Given the description of an element on the screen output the (x, y) to click on. 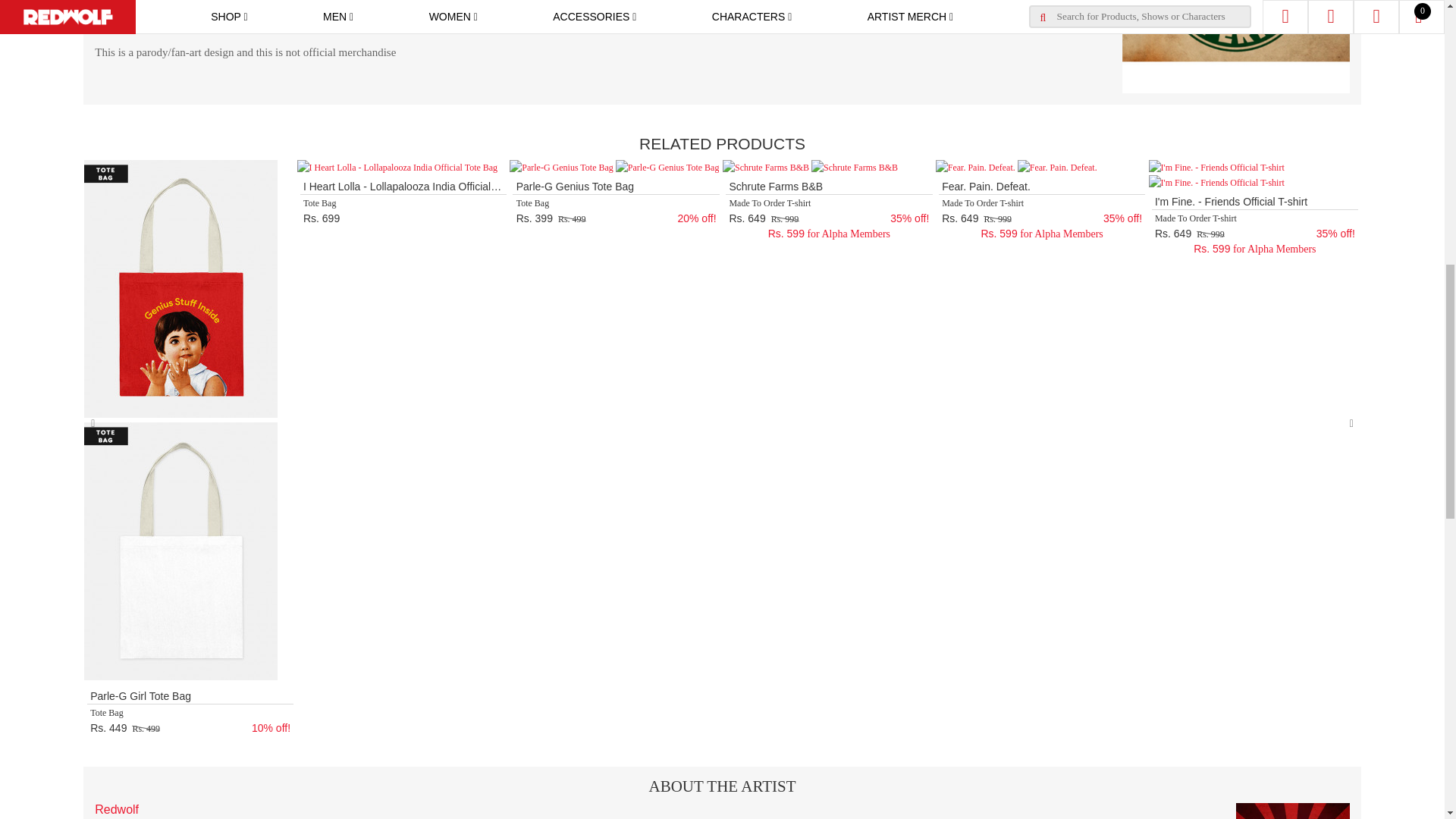
Parle-G Genius Tote Bag (560, 167)
I Heart Lolla - Lollapalooza India Official Tote Bag (397, 167)
I'm Too Sober For This - Rick And Morty Official T-shirt (42, 174)
Fear. Pain. Defeat. (975, 167)
I'm Fine. - Friends Official T-shirt (1216, 167)
